Given the description of an element on the screen output the (x, y) to click on. 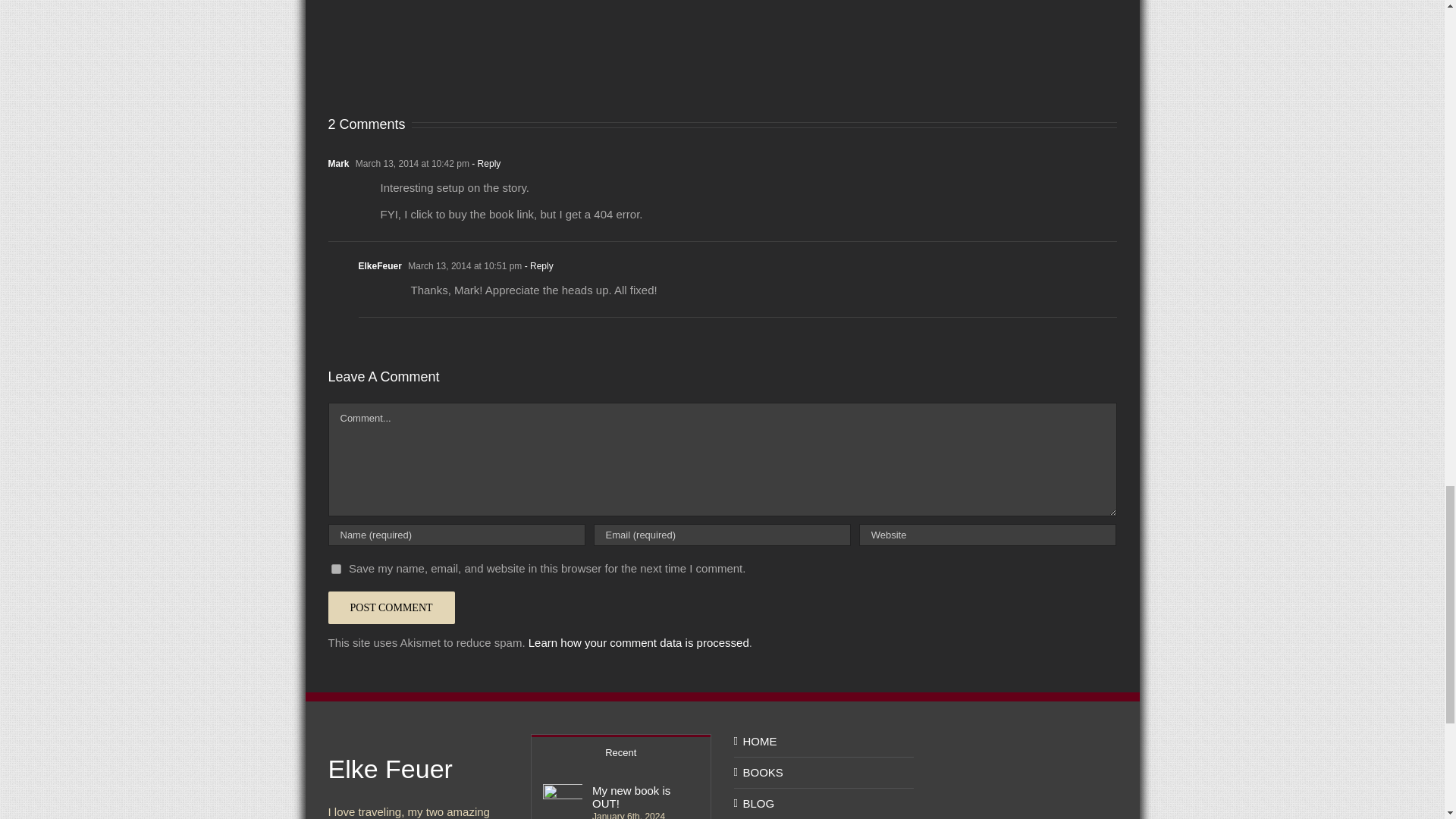
yes (335, 569)
Post Comment (390, 607)
